Given the description of an element on the screen output the (x, y) to click on. 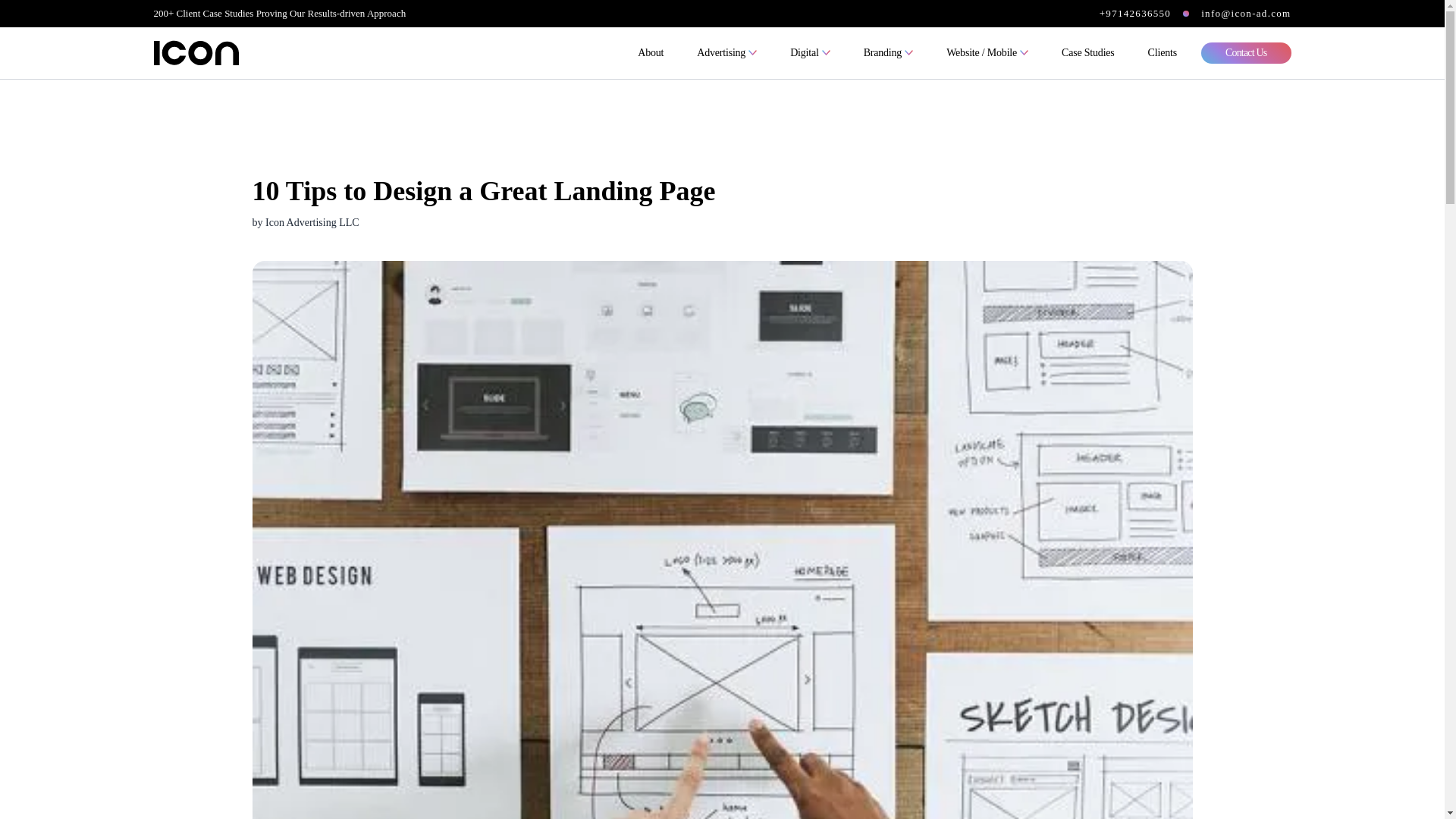
About (650, 52)
Clients (1162, 52)
Case Studies (1088, 52)
Contact Us (1246, 52)
